Given the description of an element on the screen output the (x, y) to click on. 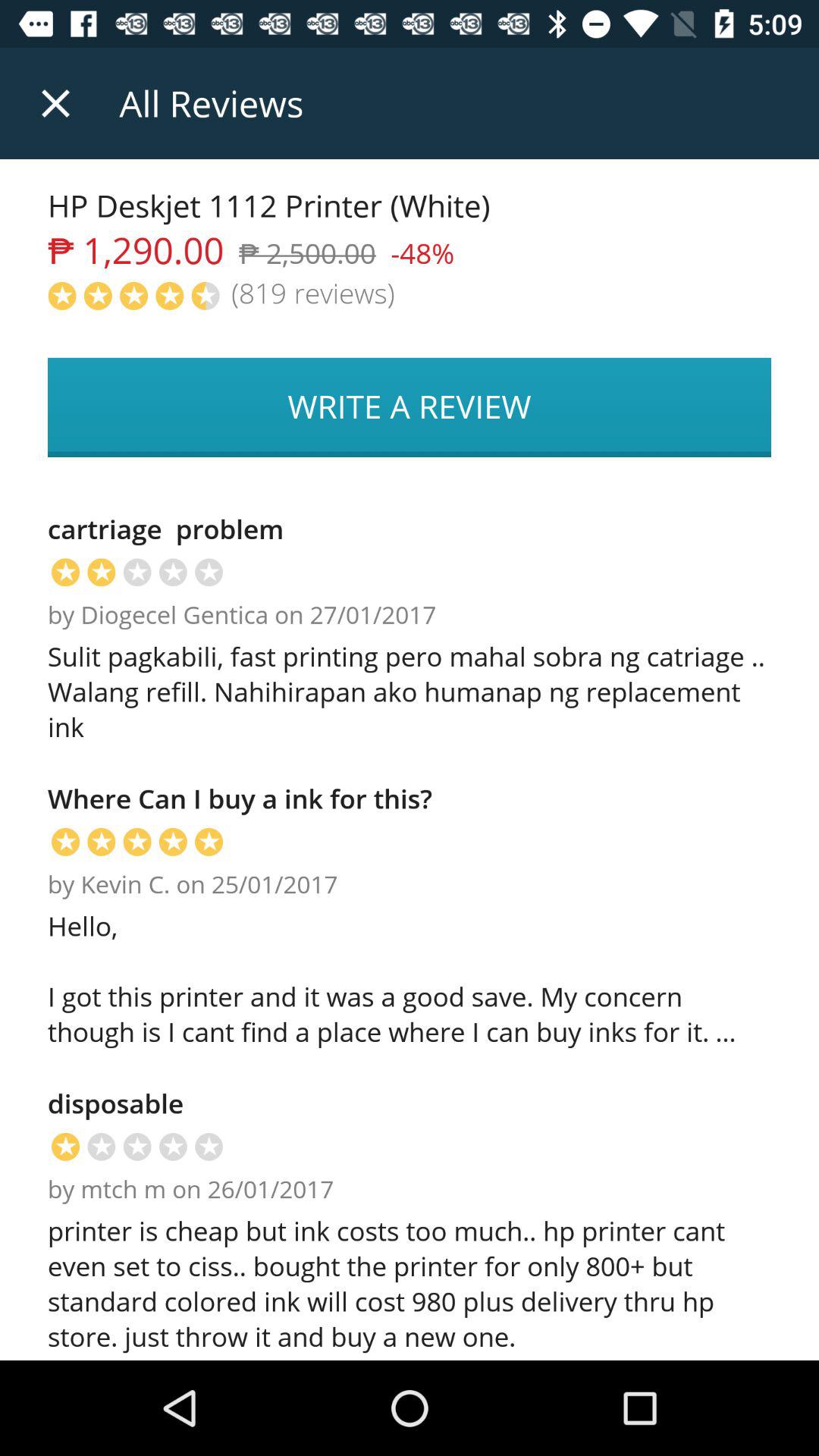
choose the icon above cartriage  problem (409, 407)
